Given the description of an element on the screen output the (x, y) to click on. 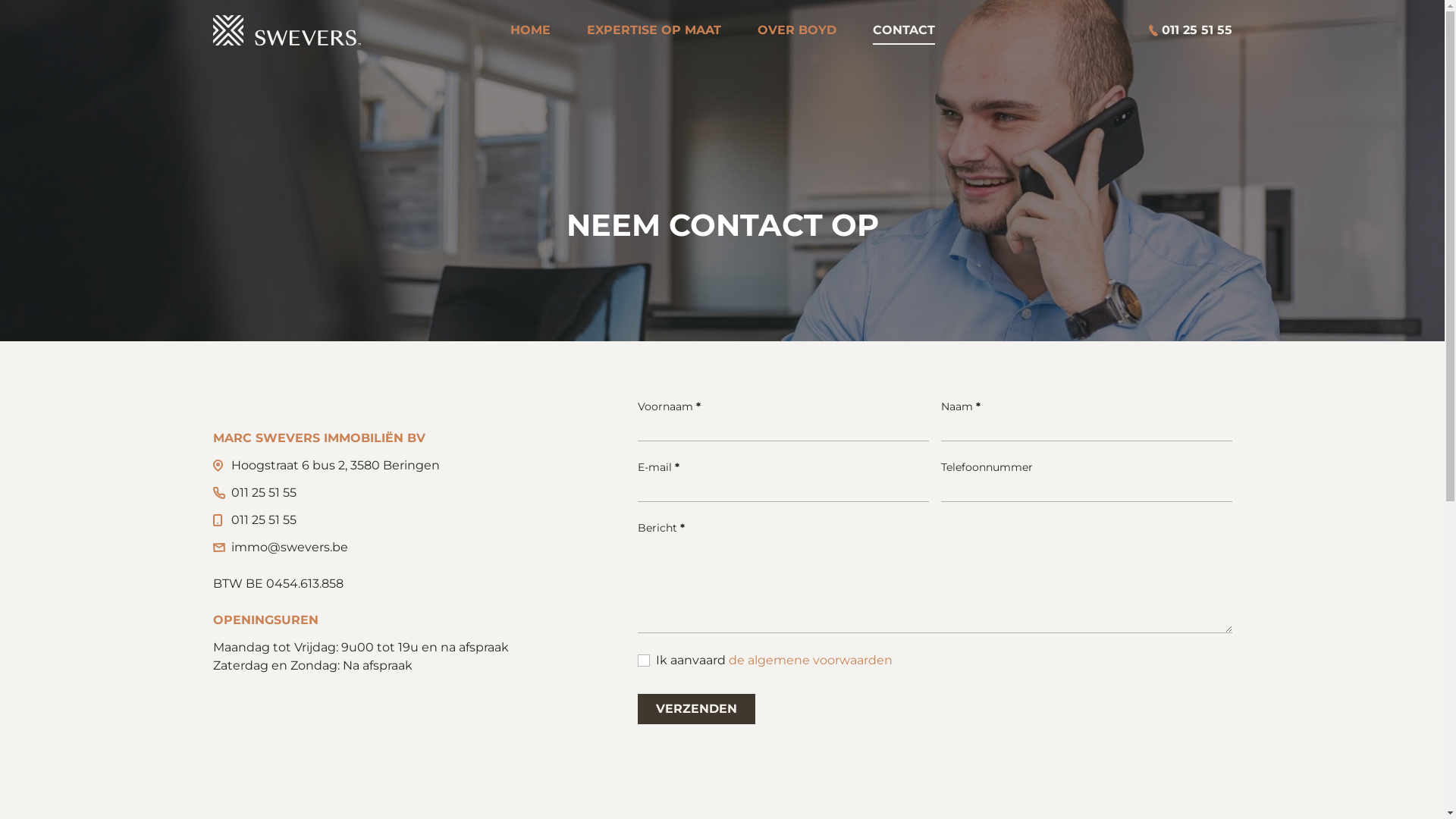
VERZENDEN Element type: text (695, 708)
011 25 51 55 Element type: text (1181, 30)
de algemene voorwaarden Element type: text (809, 659)
Marc Swevers Element type: text (286, 30)
OVER BOYD Element type: text (795, 29)
EXPERTISE OP MAAT Element type: text (653, 29)
CONTACT Element type: text (903, 29)
immo@swevers.be Element type: text (288, 546)
HOME Element type: text (529, 29)
011 25 51 55 Element type: text (262, 519)
011 25 51 55 Element type: text (262, 492)
